Given the description of an element on the screen output the (x, y) to click on. 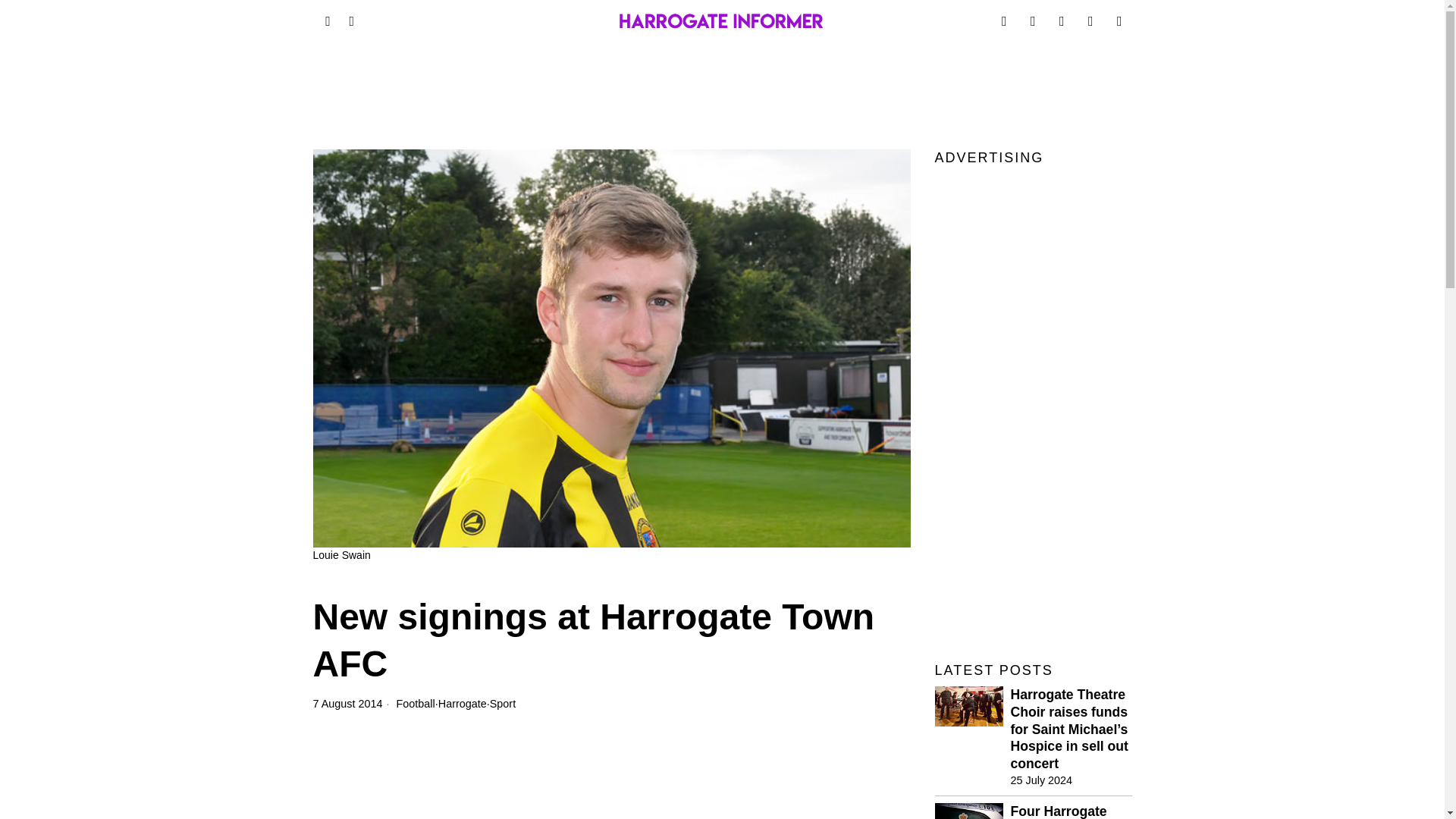
Four Harrogate arrests over supply of Class A drugs (1070, 811)
07 Aug, 2014 08:20:47 (347, 703)
25 Jul, 2024 13:34:07 (1040, 780)
Football (415, 703)
Sport (502, 703)
Harrogate (462, 703)
